Given the description of an element on the screen output the (x, y) to click on. 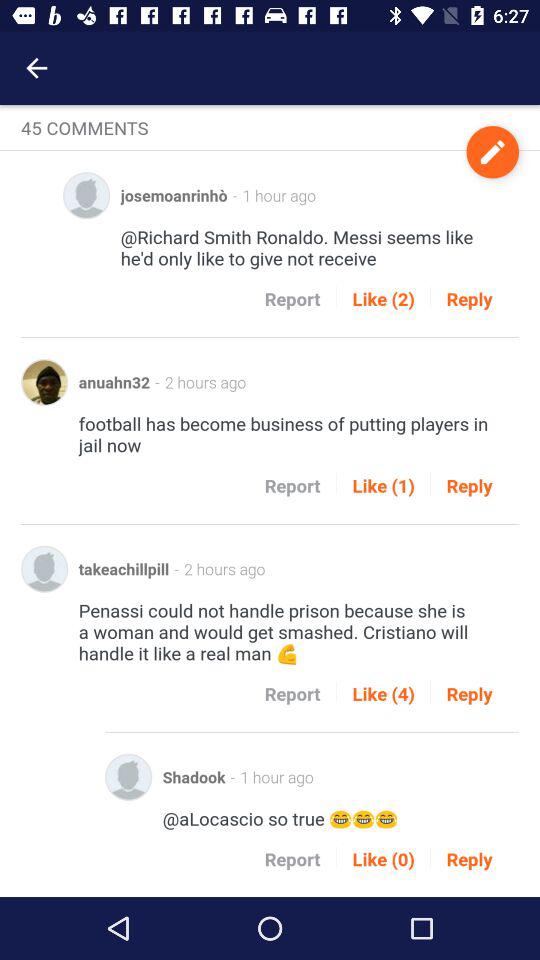
turn on like (1) icon (383, 485)
